Given the description of an element on the screen output the (x, y) to click on. 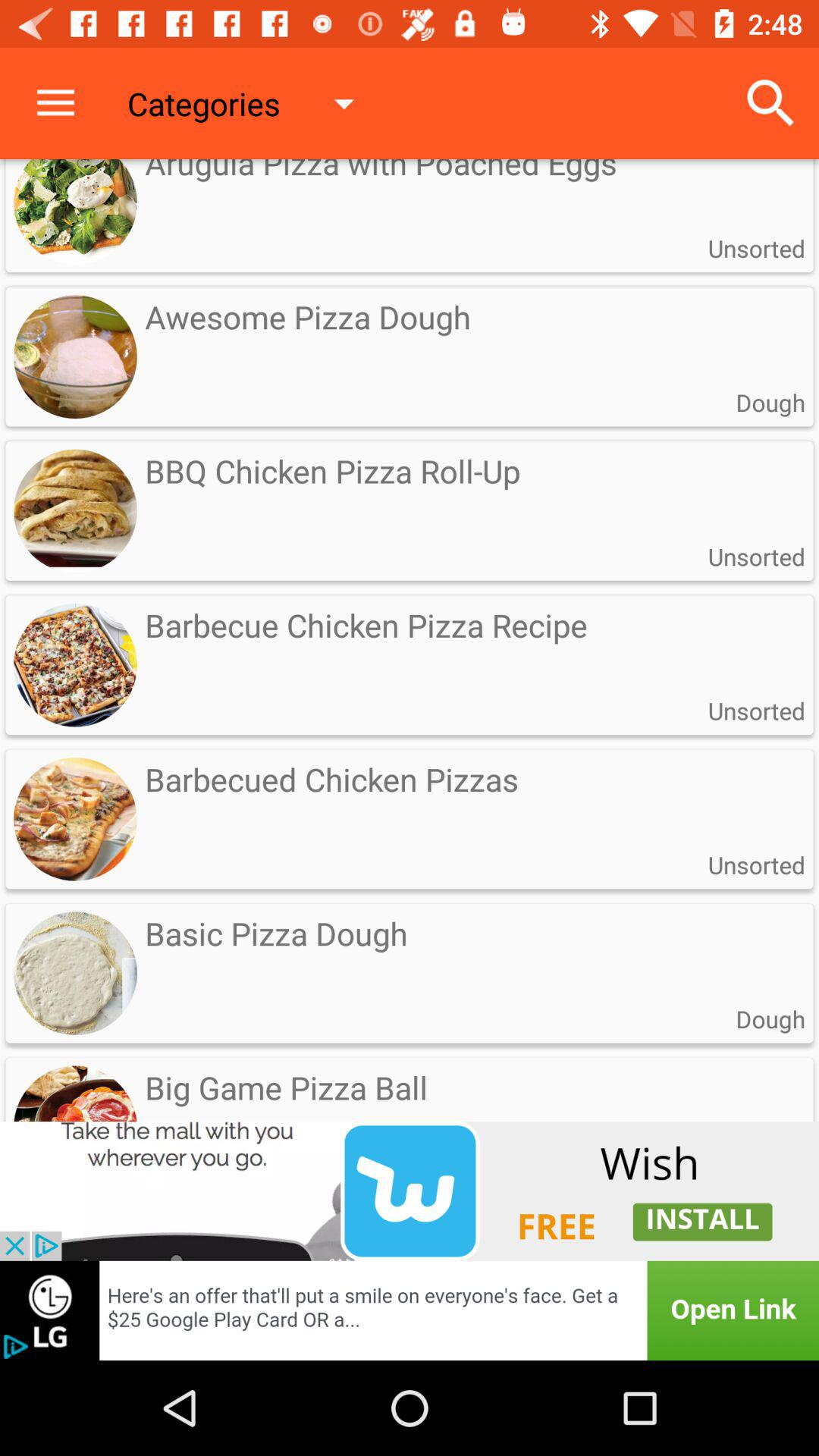
link to install an app (409, 1190)
